Given the description of an element on the screen output the (x, y) to click on. 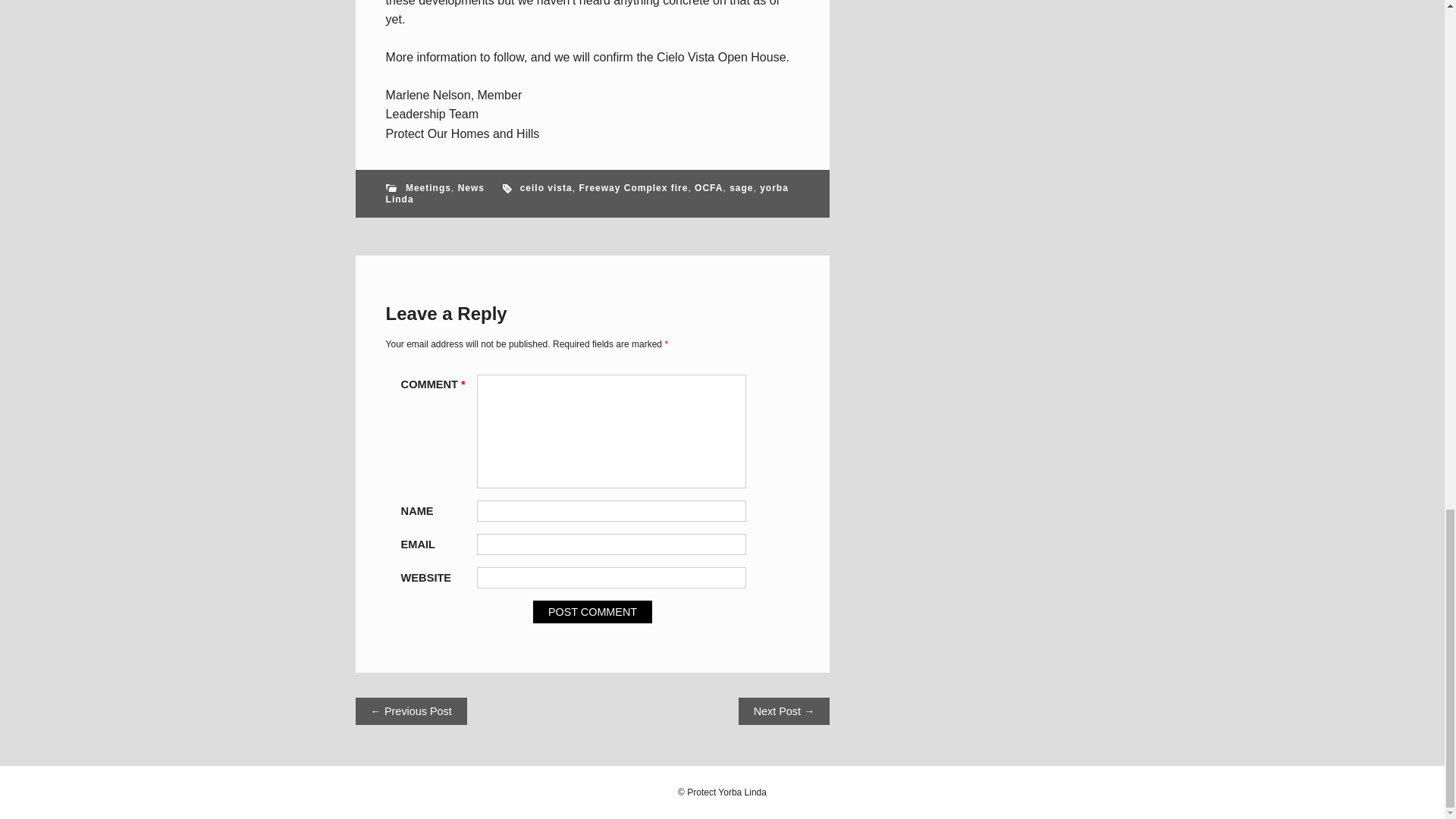
Post Comment (592, 611)
News (471, 187)
OCFA (708, 187)
sage (740, 187)
Post Comment (592, 611)
ceilo vista (545, 187)
yorba Linda (587, 192)
Meetings (428, 187)
Freeway Complex fire (632, 187)
